Given the description of an element on the screen output the (x, y) to click on. 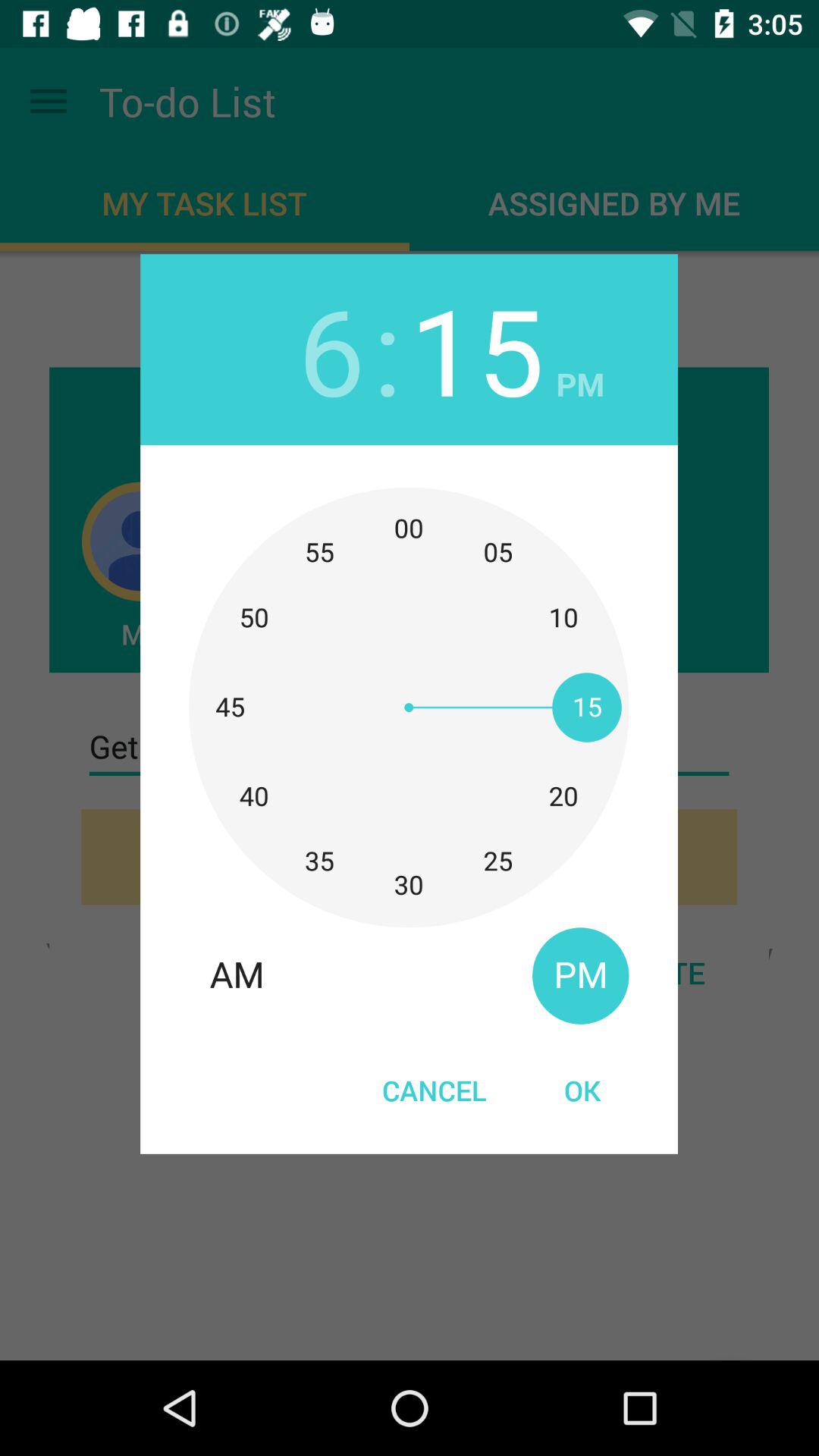
scroll until the ok (582, 1090)
